Given the description of an element on the screen output the (x, y) to click on. 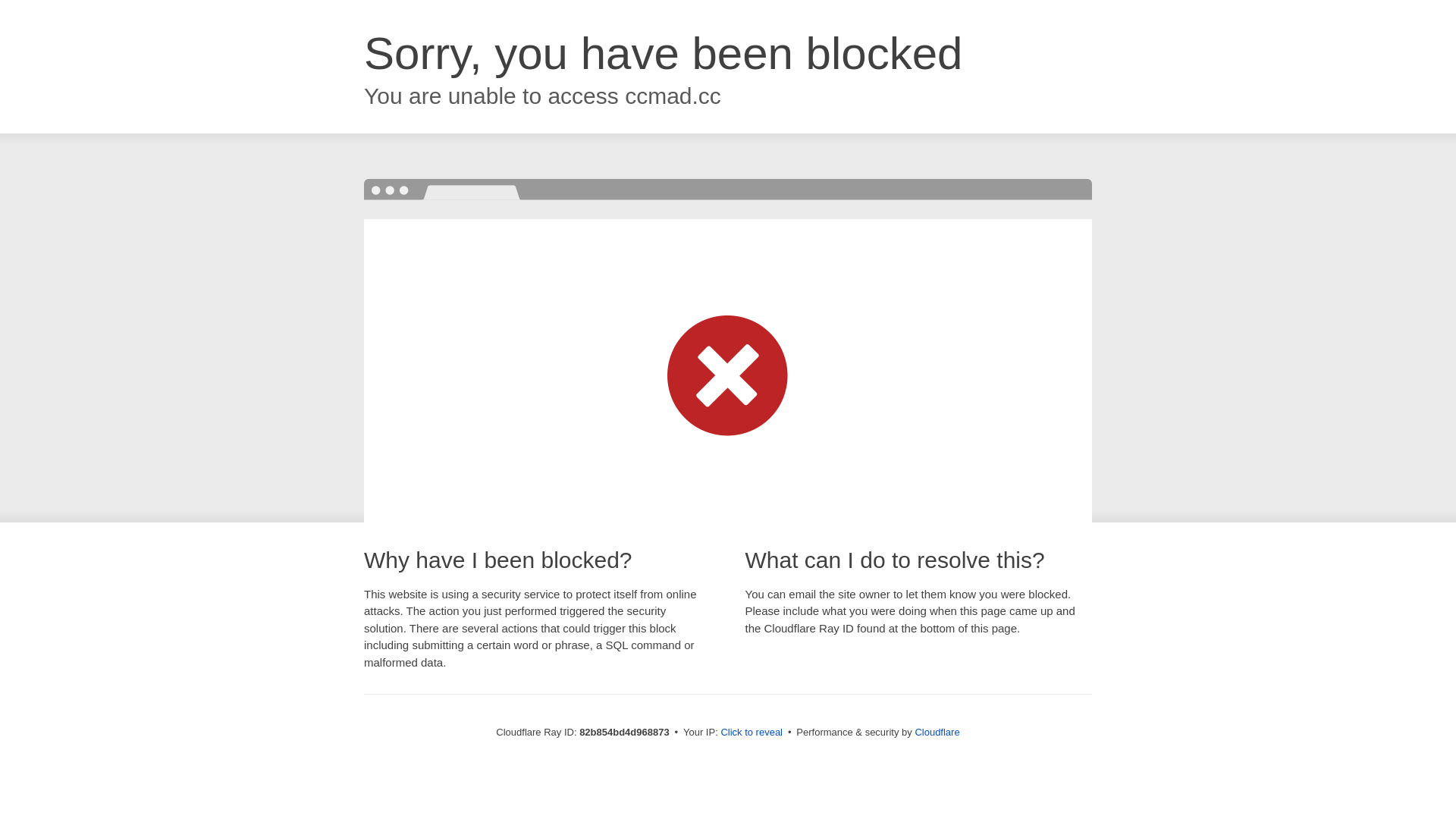
Click to reveal Element type: text (751, 732)
Cloudflare Element type: text (936, 731)
